Given the description of an element on the screen output the (x, y) to click on. 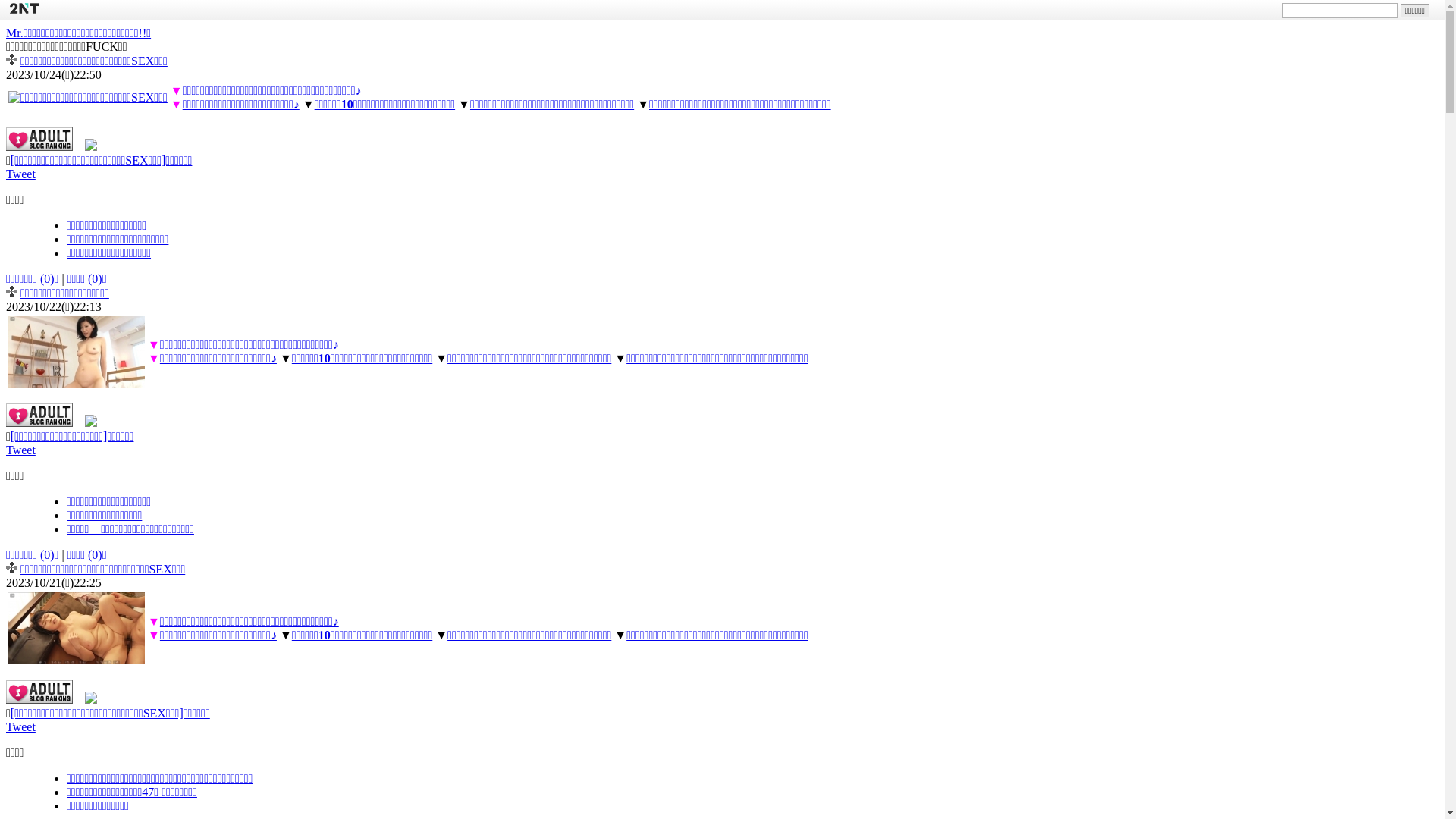
Tweet Element type: text (20, 173)
Tweet Element type: text (20, 449)
Tweet Element type: text (20, 726)
